Given the description of an element on the screen output the (x, y) to click on. 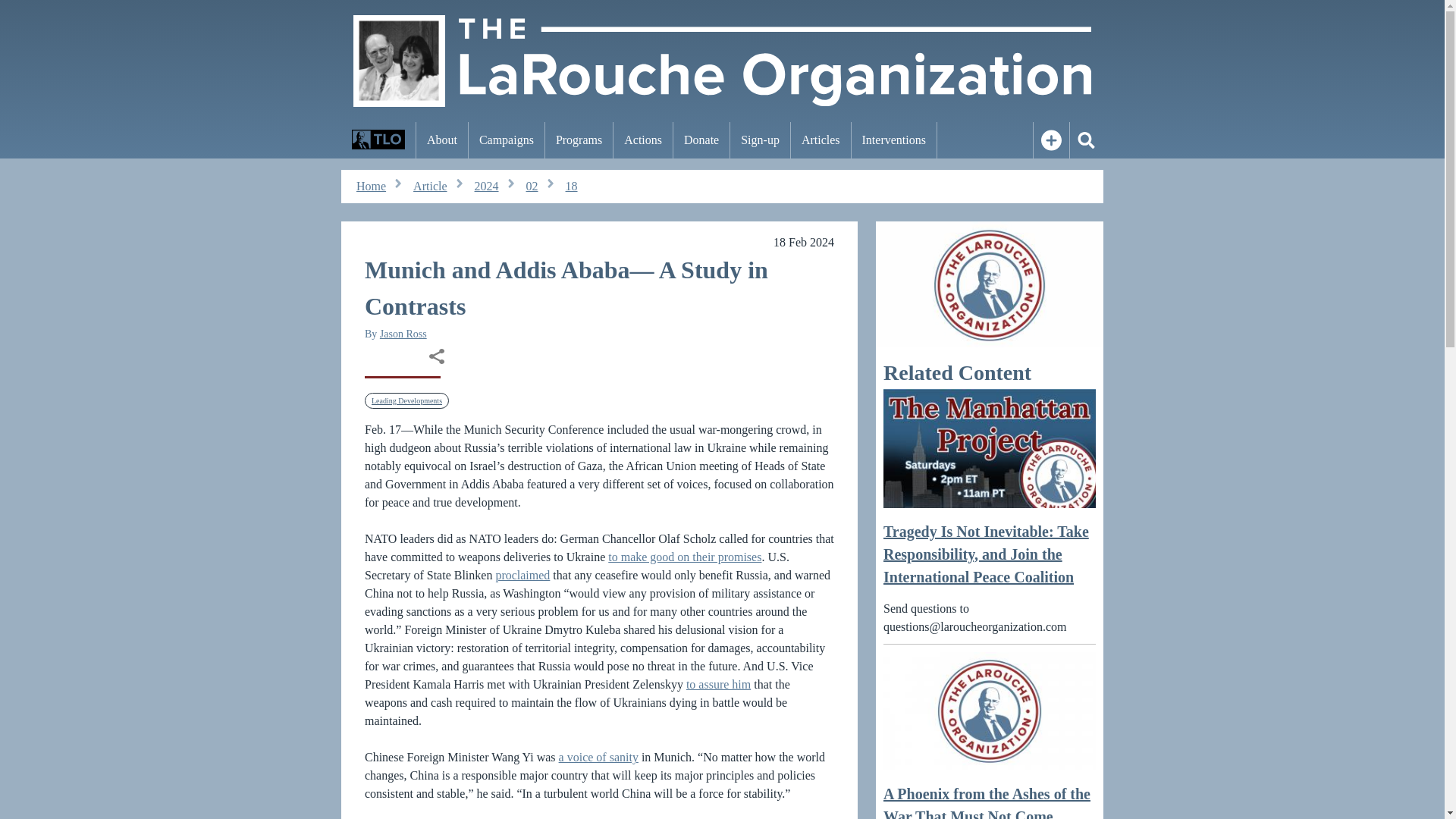
Programs (578, 140)
Interventions (893, 140)
Actions (642, 140)
Campaigns (506, 140)
Home (370, 186)
About (441, 140)
Sign-up (760, 140)
2024 (486, 186)
Articles (820, 140)
Donate (700, 140)
